Given the description of an element on the screen output the (x, y) to click on. 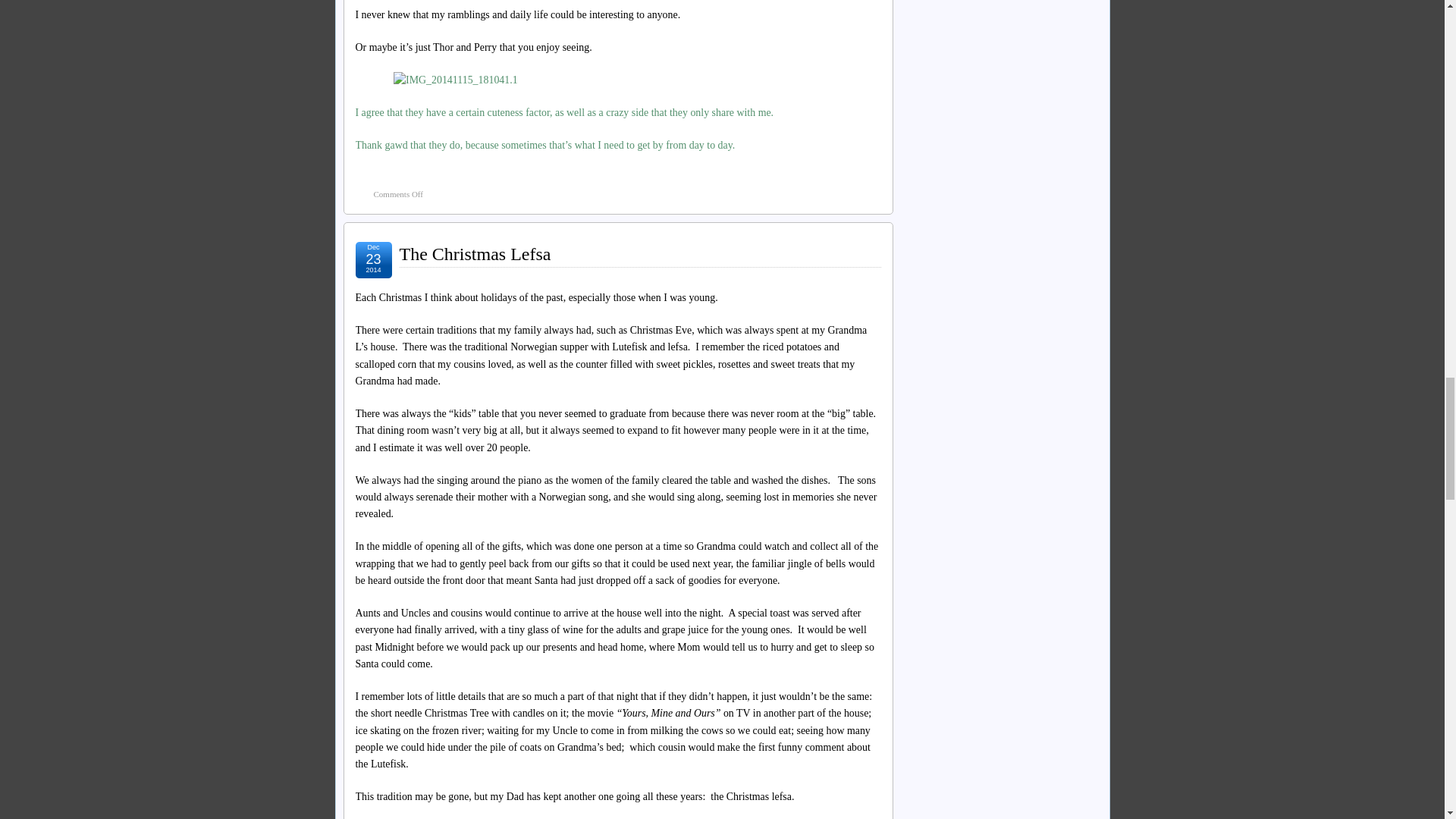
The Christmas Lefsa (617, 194)
The Christmas Lefsa (474, 253)
